Given the description of an element on the screen output the (x, y) to click on. 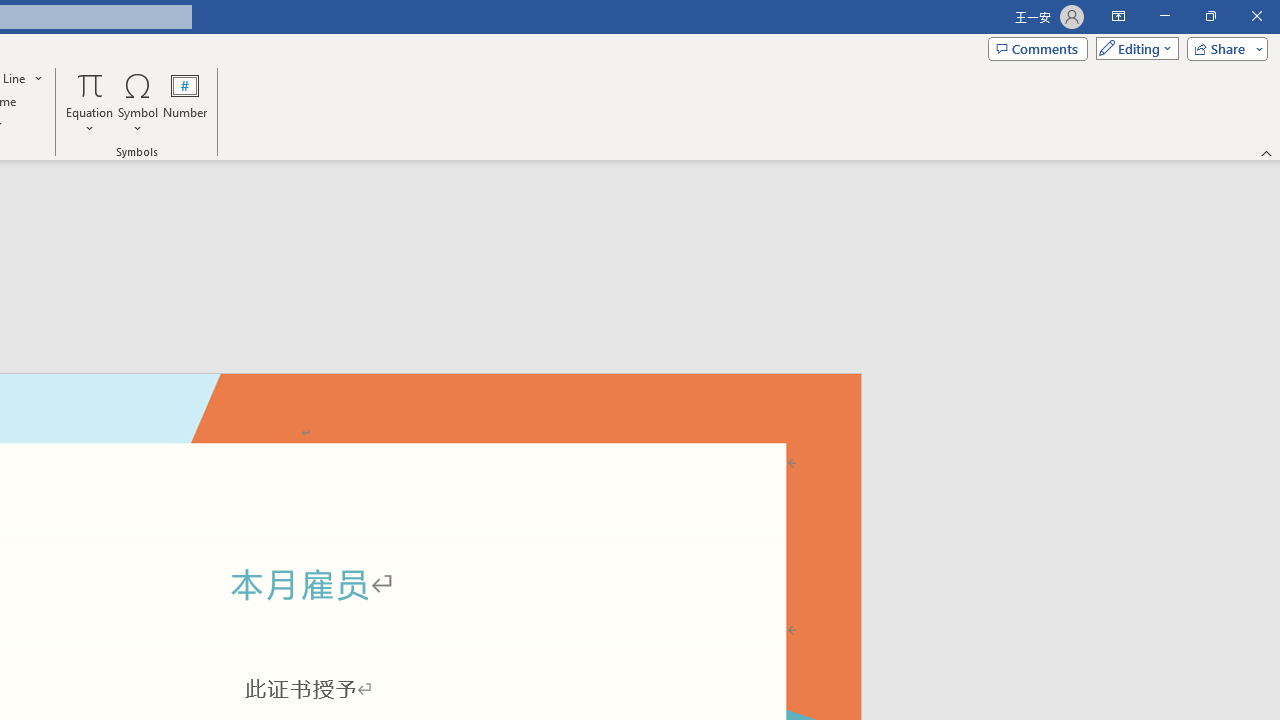
Equation (90, 102)
Number... (185, 102)
Symbol (138, 102)
Equation (90, 84)
